Given the description of an element on the screen output the (x, y) to click on. 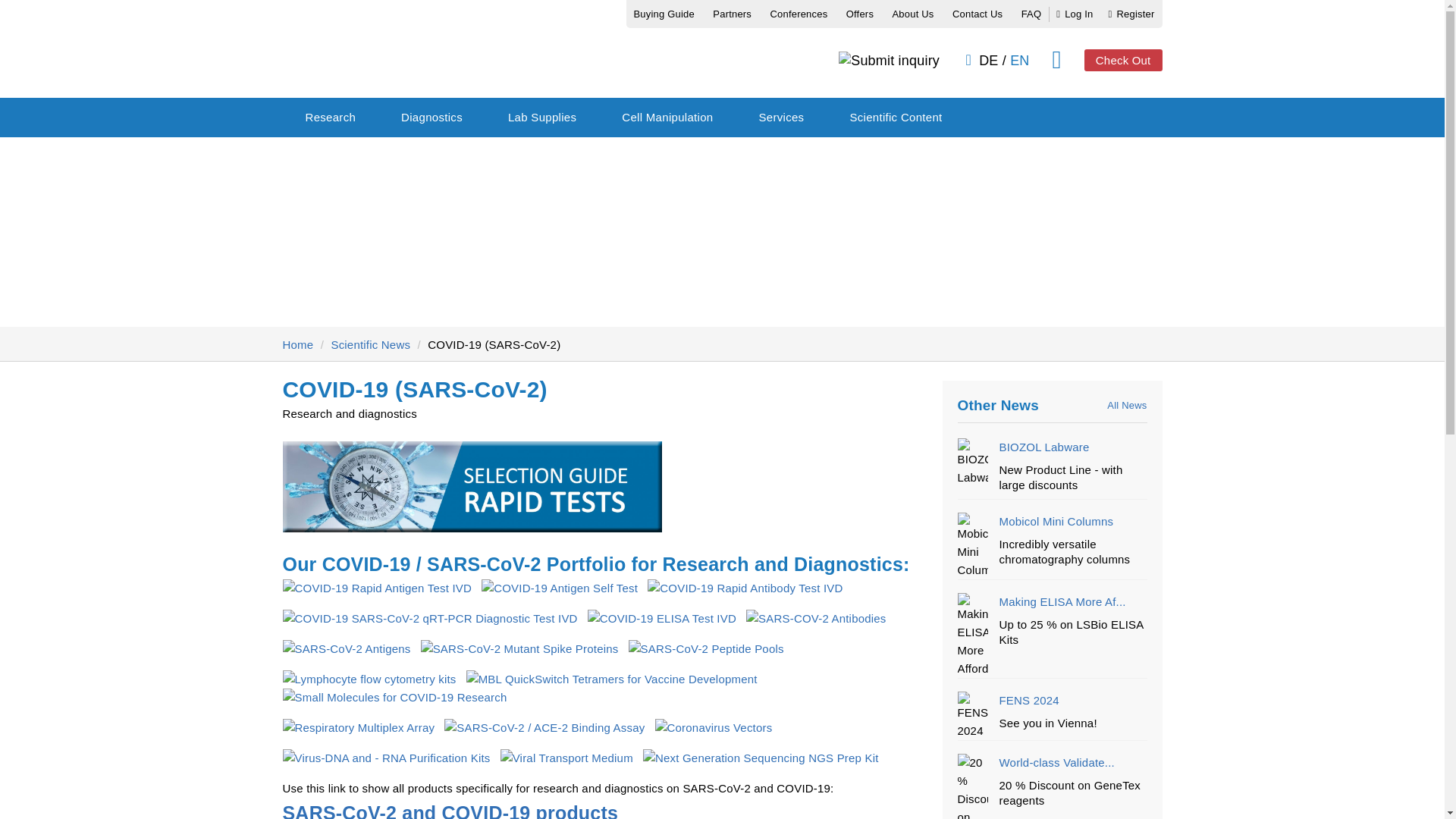
Register (1131, 13)
Services (781, 117)
Scientific Content (895, 117)
Research (330, 117)
Scientific News (370, 344)
Contact Us (977, 13)
Partners (732, 13)
FAQ (1032, 13)
Buying Guide (663, 13)
About Us (912, 13)
Home (297, 344)
Offers (859, 13)
Conferences (798, 13)
Cell Manipulation (666, 117)
Log In (1075, 13)
